Given the description of an element on the screen output the (x, y) to click on. 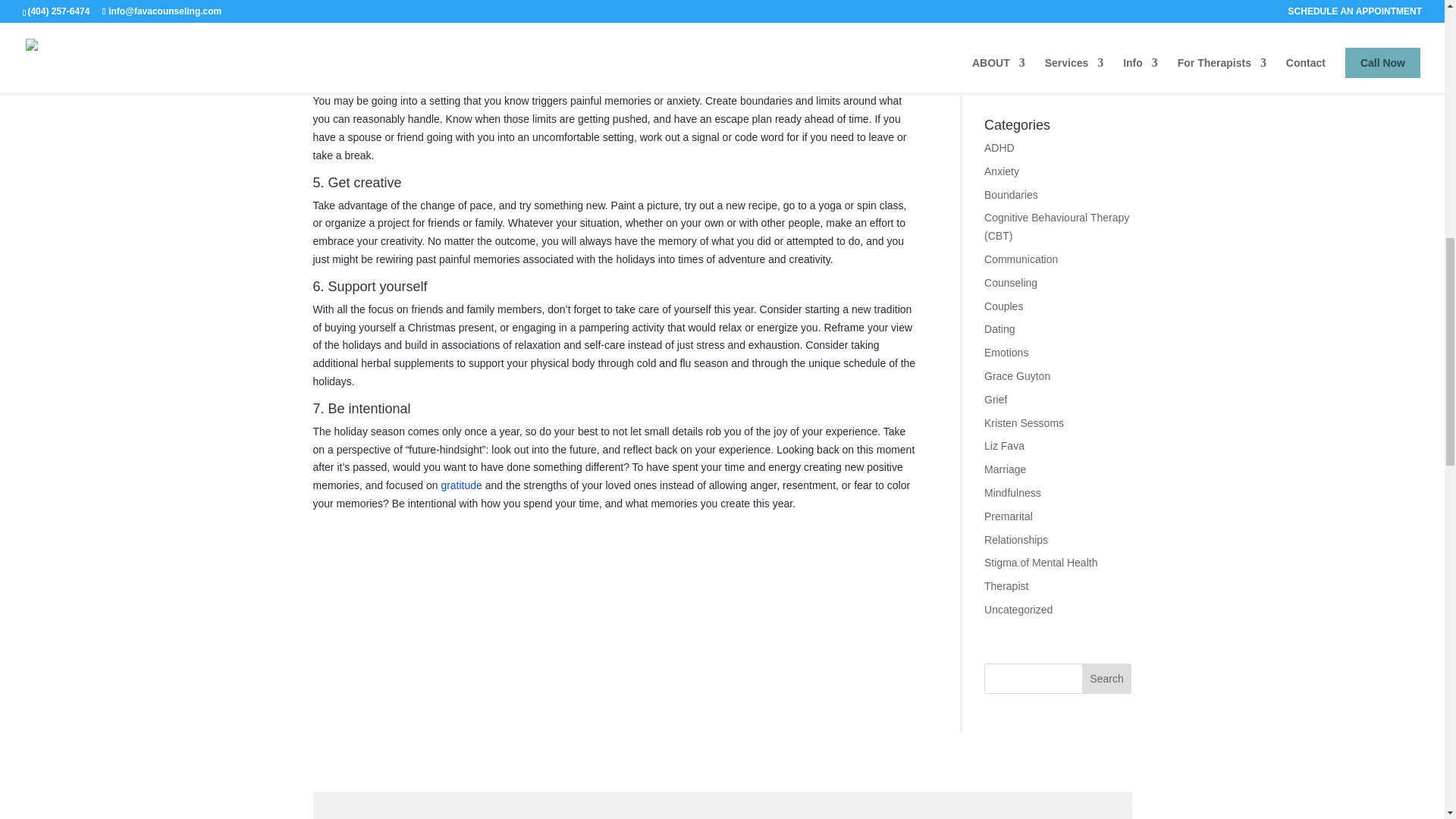
Search (1106, 678)
